Given the description of an element on the screen output the (x, y) to click on. 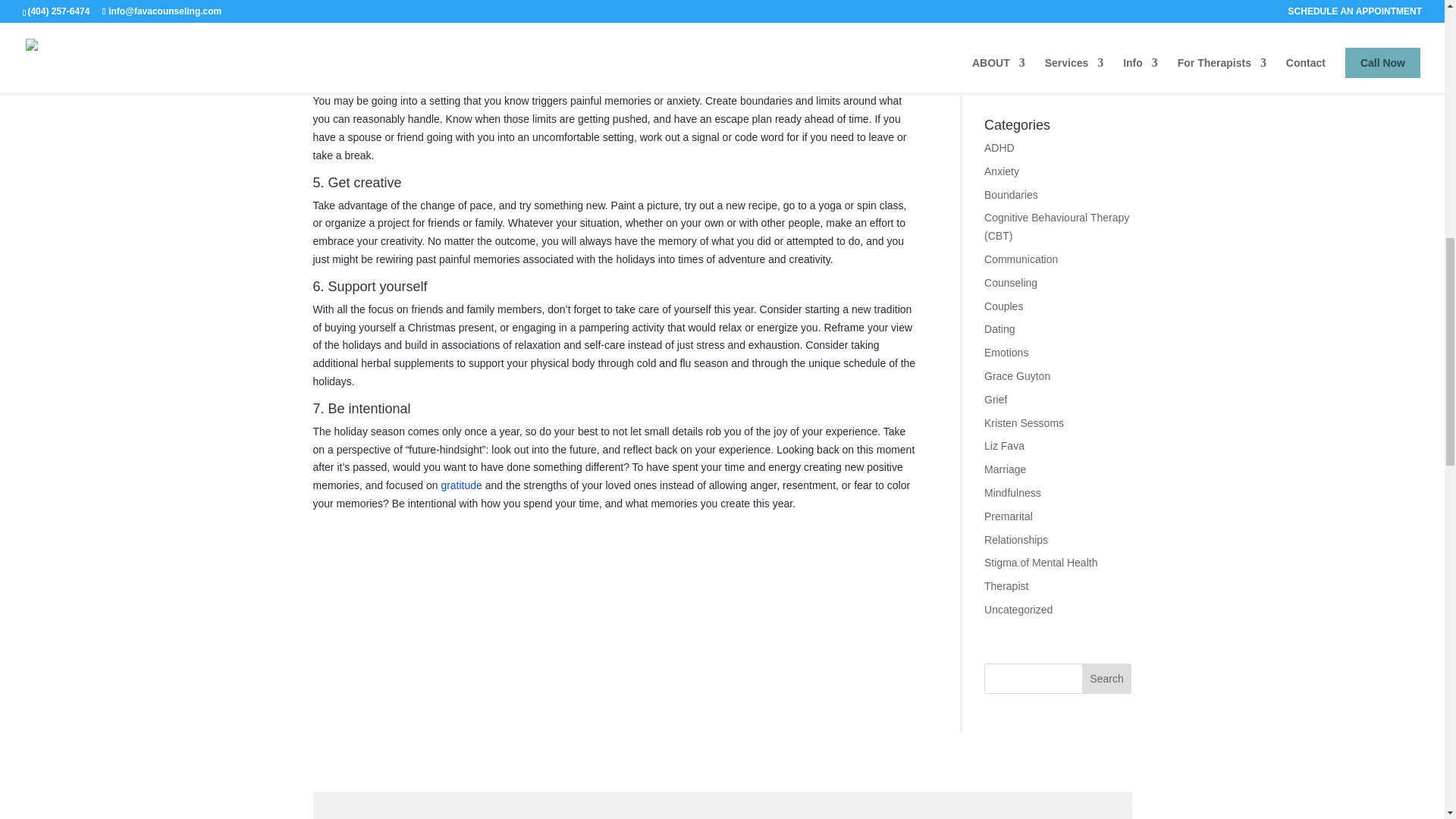
Search (1106, 678)
